Given the description of an element on the screen output the (x, y) to click on. 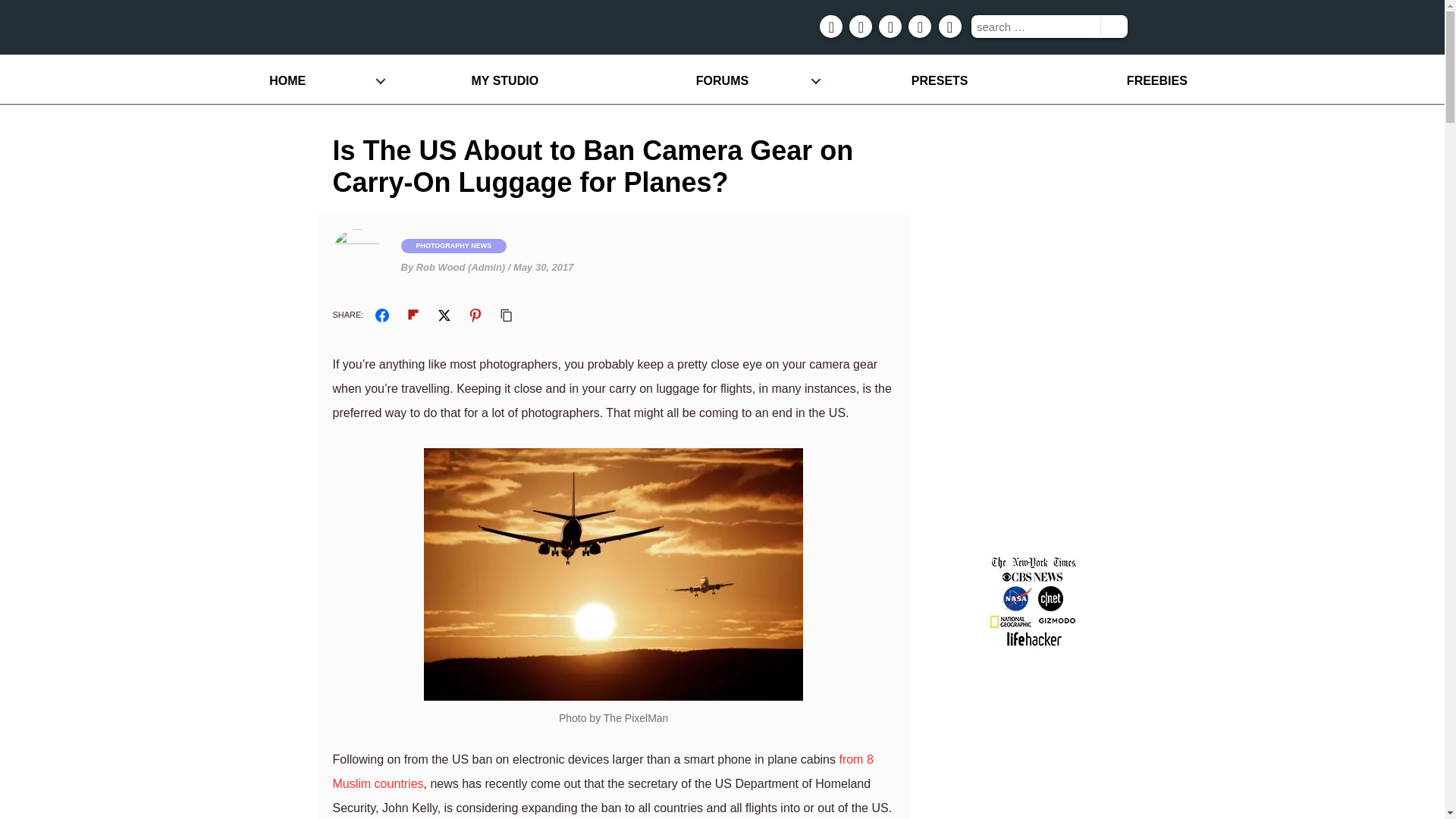
Share on Tweets (444, 315)
MY STUDIO (504, 81)
Share on Shares (382, 315)
Share on Copy Link (506, 315)
Search (1113, 26)
Share on Flipboard (412, 315)
Search (1113, 26)
FORUMS (722, 81)
Share on Pins (475, 315)
HOME (287, 81)
Search (1113, 26)
